Given the description of an element on the screen output the (x, y) to click on. 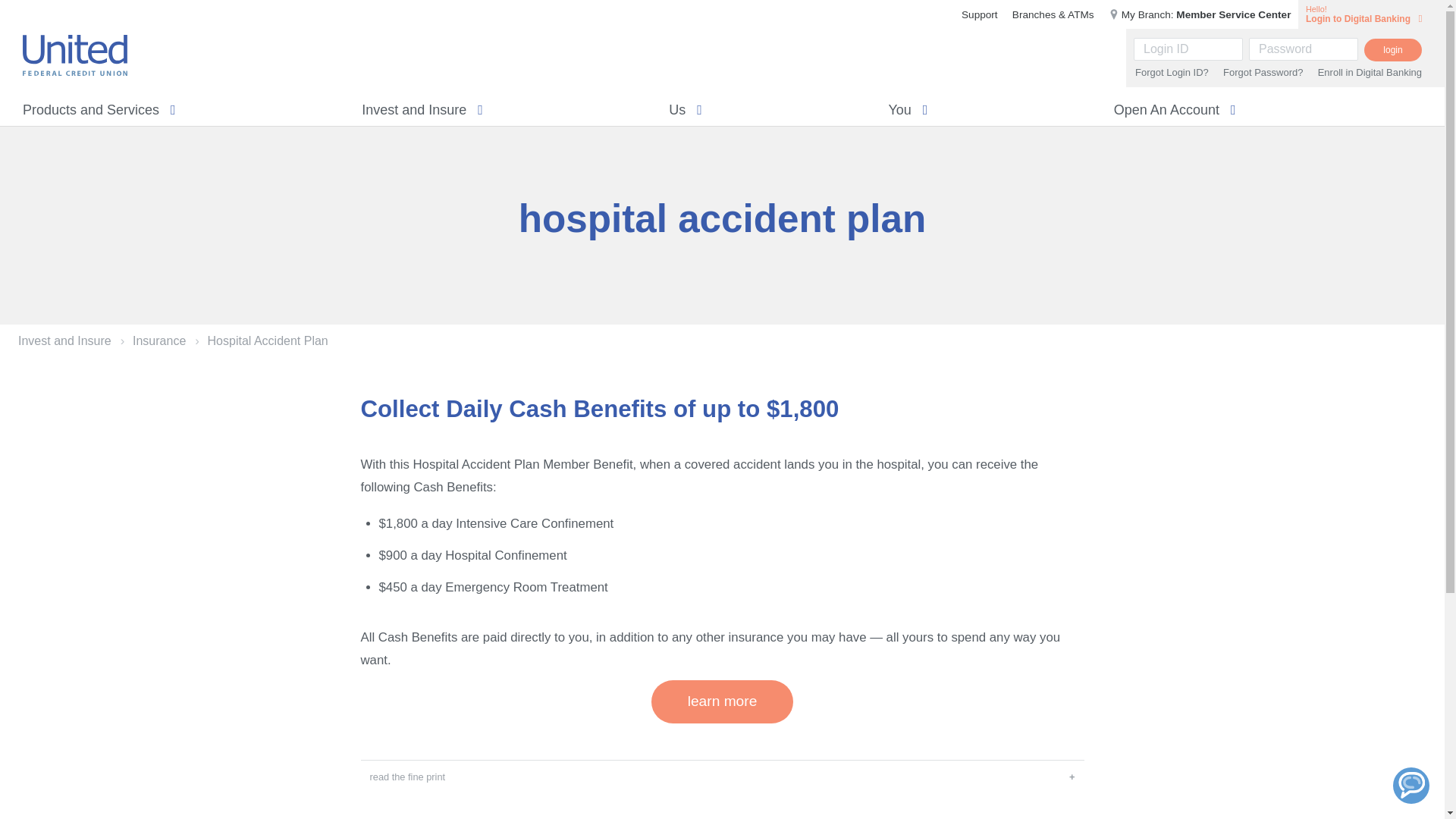
Enroll in Digital Banking (1369, 71)
Forgot Login (1171, 71)
Support (978, 14)
United Federal Credit Union Logo (74, 55)
Forgot Password (1263, 71)
tiny-icon-pin My Branch: Member Service Center (1199, 14)
United Federal Credit Union Logo (75, 55)
Enroll in Digital Banking (1369, 71)
Click to choose your location (1199, 14)
tiny-icon-pin (1113, 14)
